Given the description of an element on the screen output the (x, y) to click on. 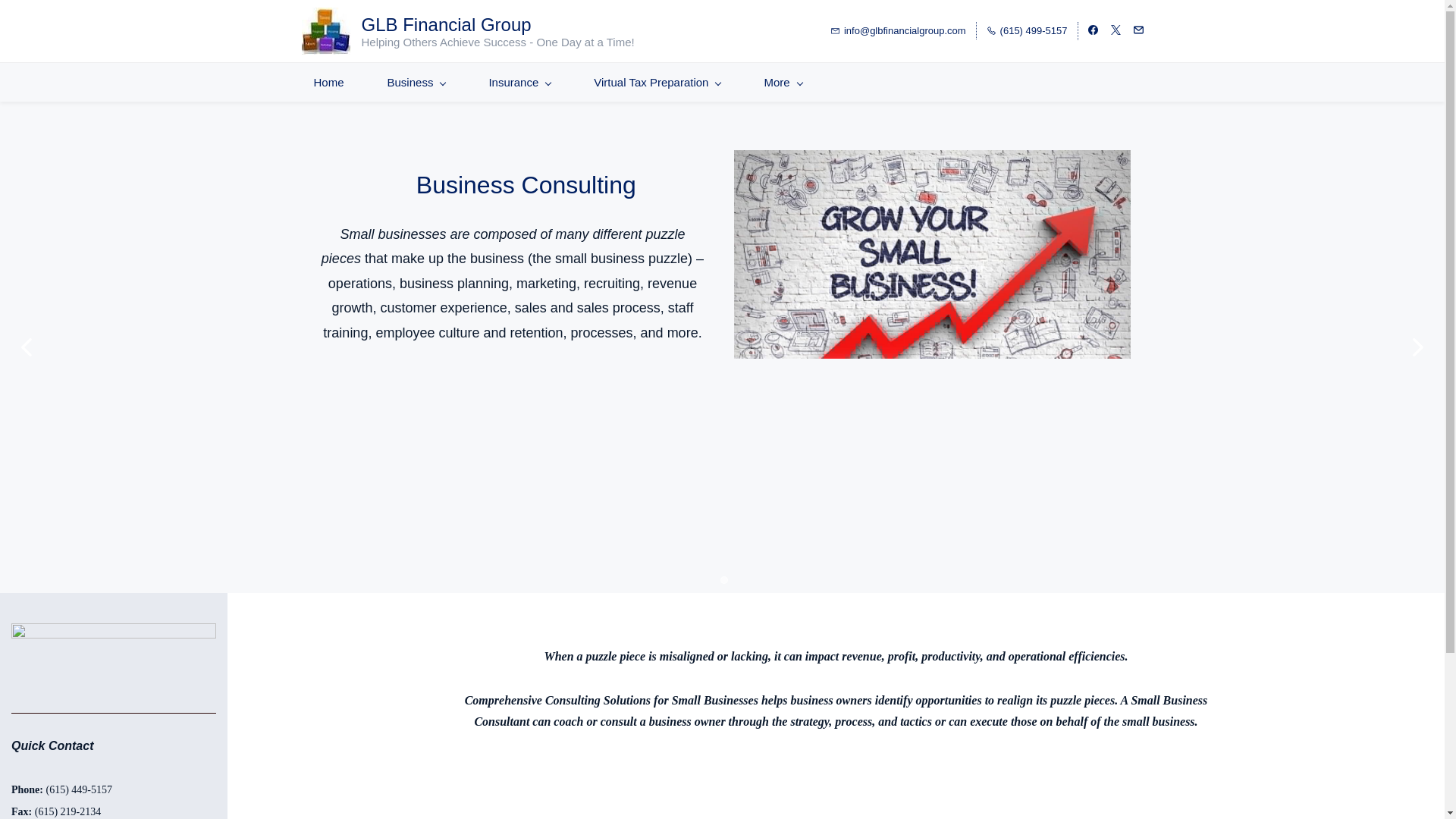
Virtual Tax Preparation (656, 82)
Business (416, 82)
More (782, 82)
Home (328, 82)
Insurance (519, 82)
